Given the description of an element on the screen output the (x, y) to click on. 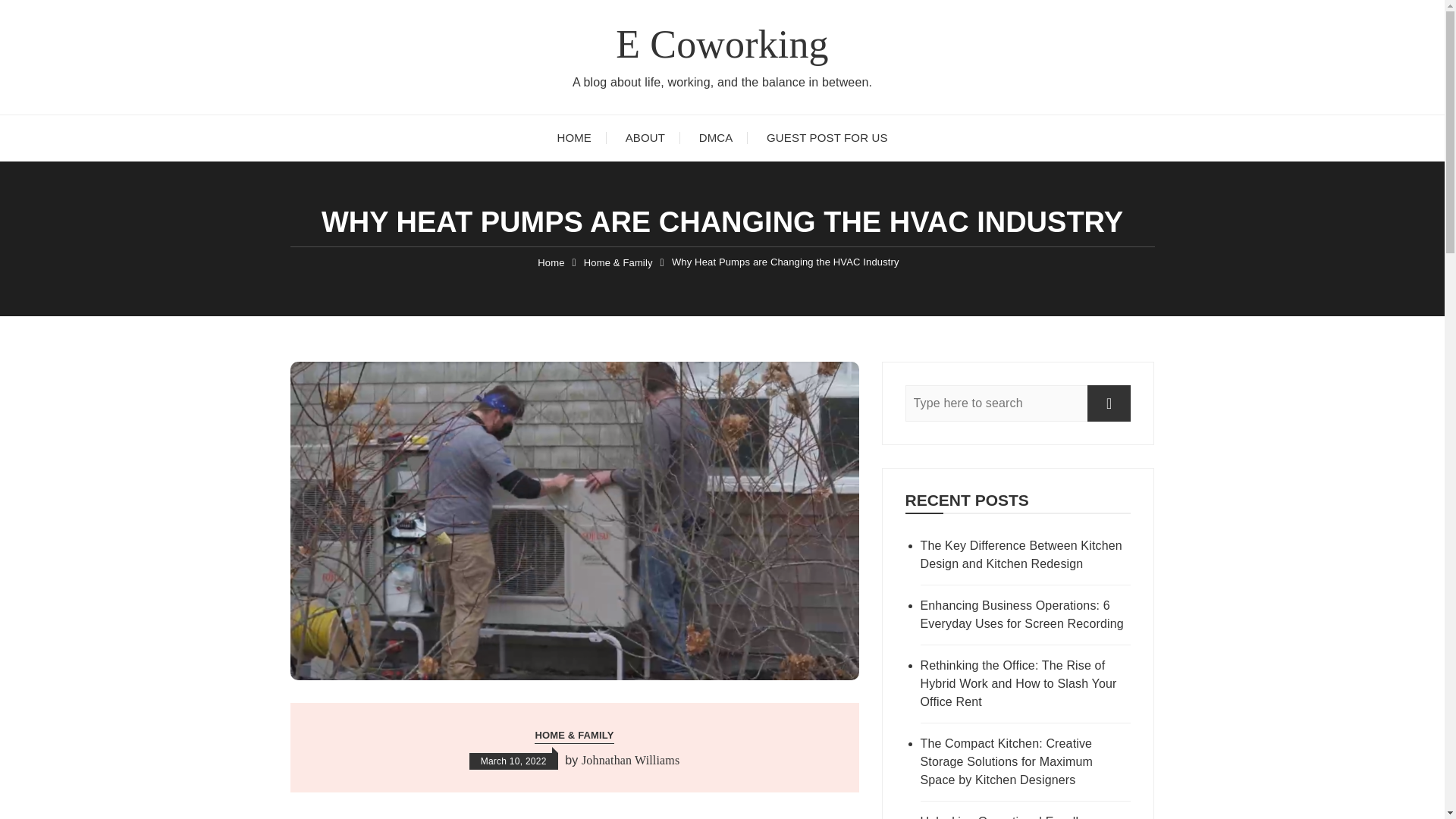
HOME (574, 137)
March 10, 2022 (512, 760)
Home (550, 263)
ABOUT (644, 137)
GUEST POST FOR US (826, 137)
E Coworking (721, 44)
Why Heat Pumps are Changing the HVAC Industry (785, 262)
DMCA (716, 137)
Johnathan Williams (629, 760)
